Given the description of an element on the screen output the (x, y) to click on. 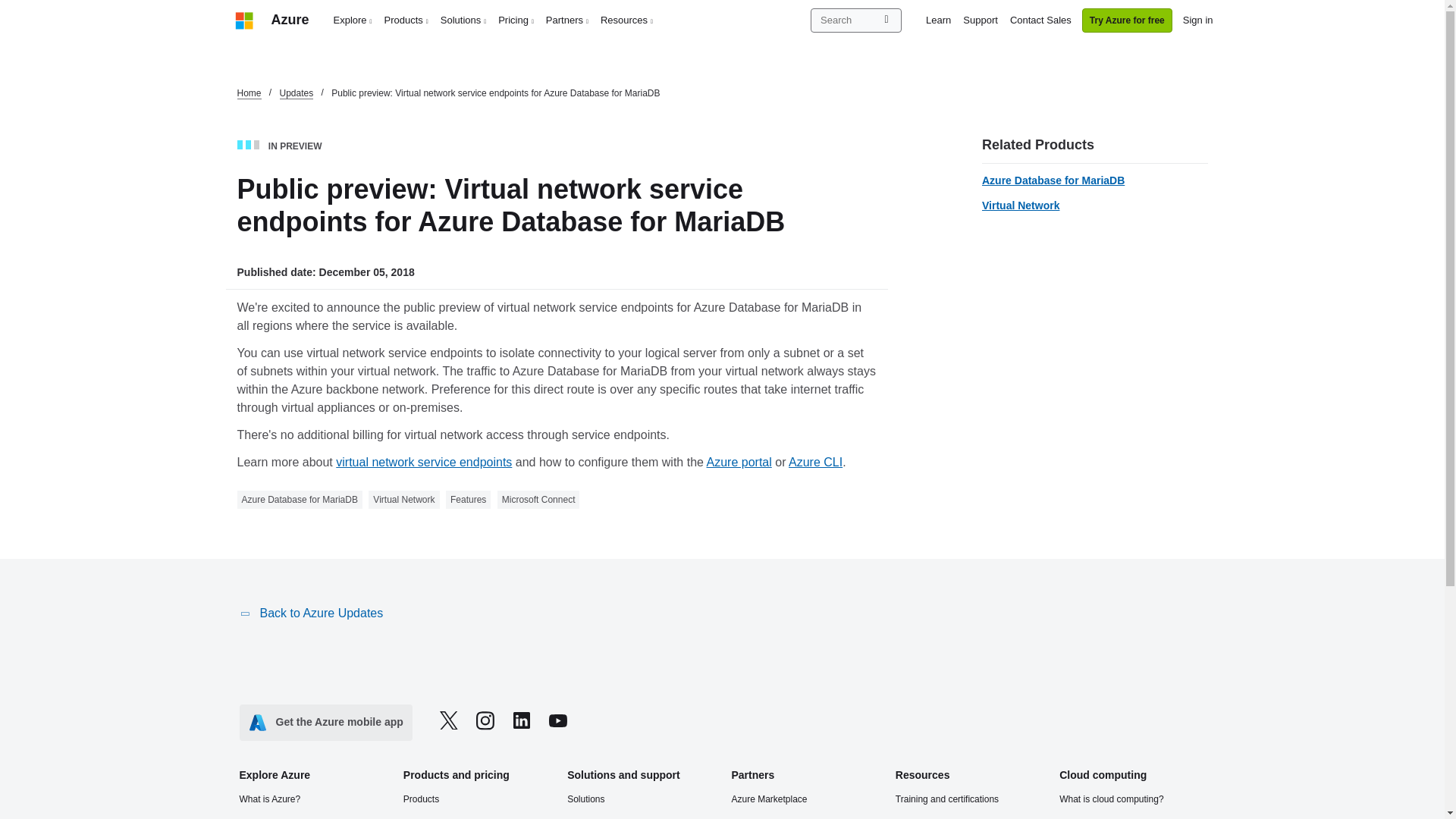
Azure (289, 19)
Skip to main content (7, 7)
Products (405, 20)
Explore (352, 20)
